Given the description of an element on the screen output the (x, y) to click on. 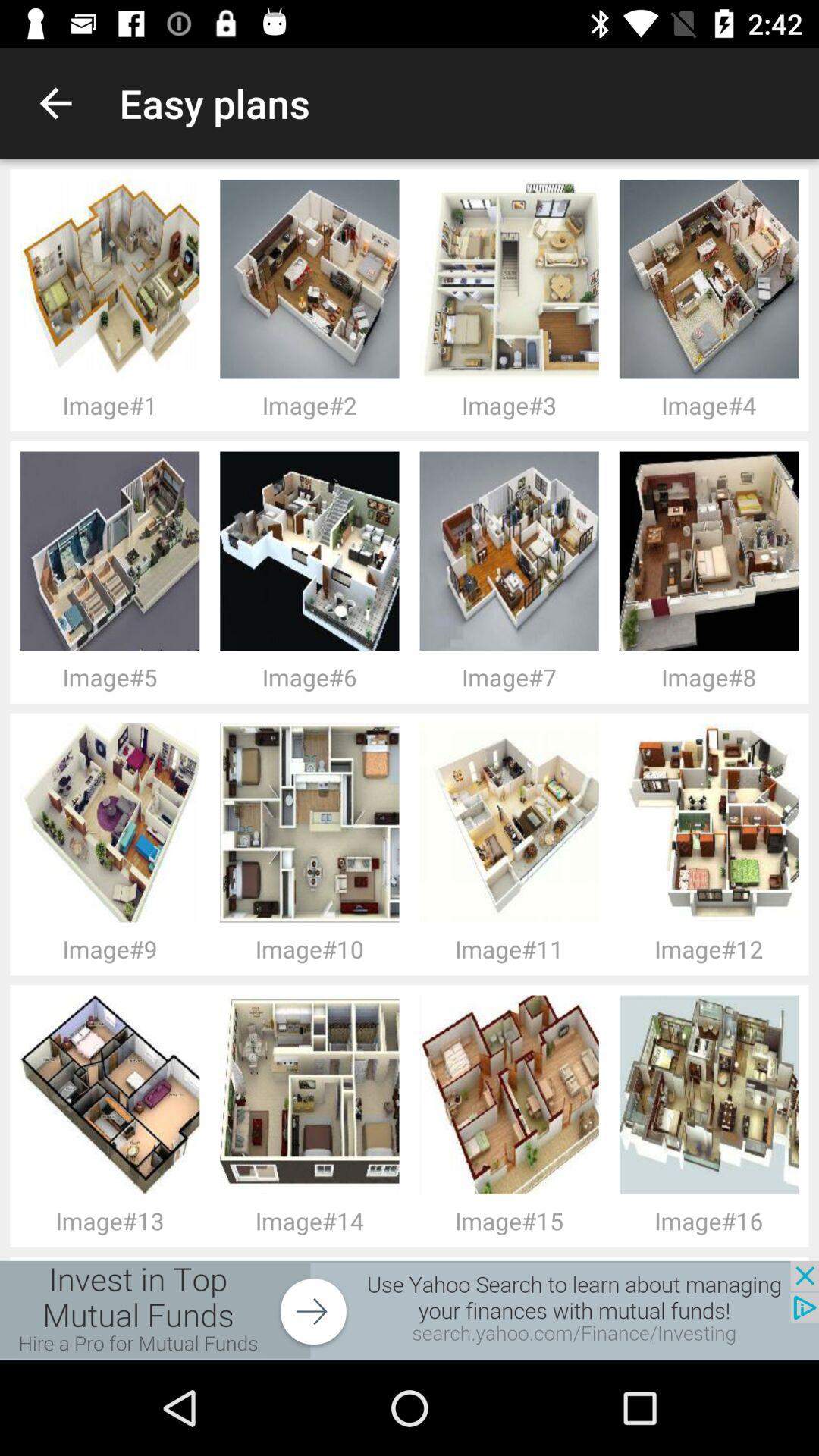
click on the image above image 1 (114, 278)
click on the second image in first row (114, 550)
select the image which is above image4 (714, 278)
click on the third image in the first row (114, 823)
click on the fourth image from left in second row (714, 550)
click on the second image in second row from left (314, 550)
click on image above image12 (714, 823)
